Given the description of an element on the screen output the (x, y) to click on. 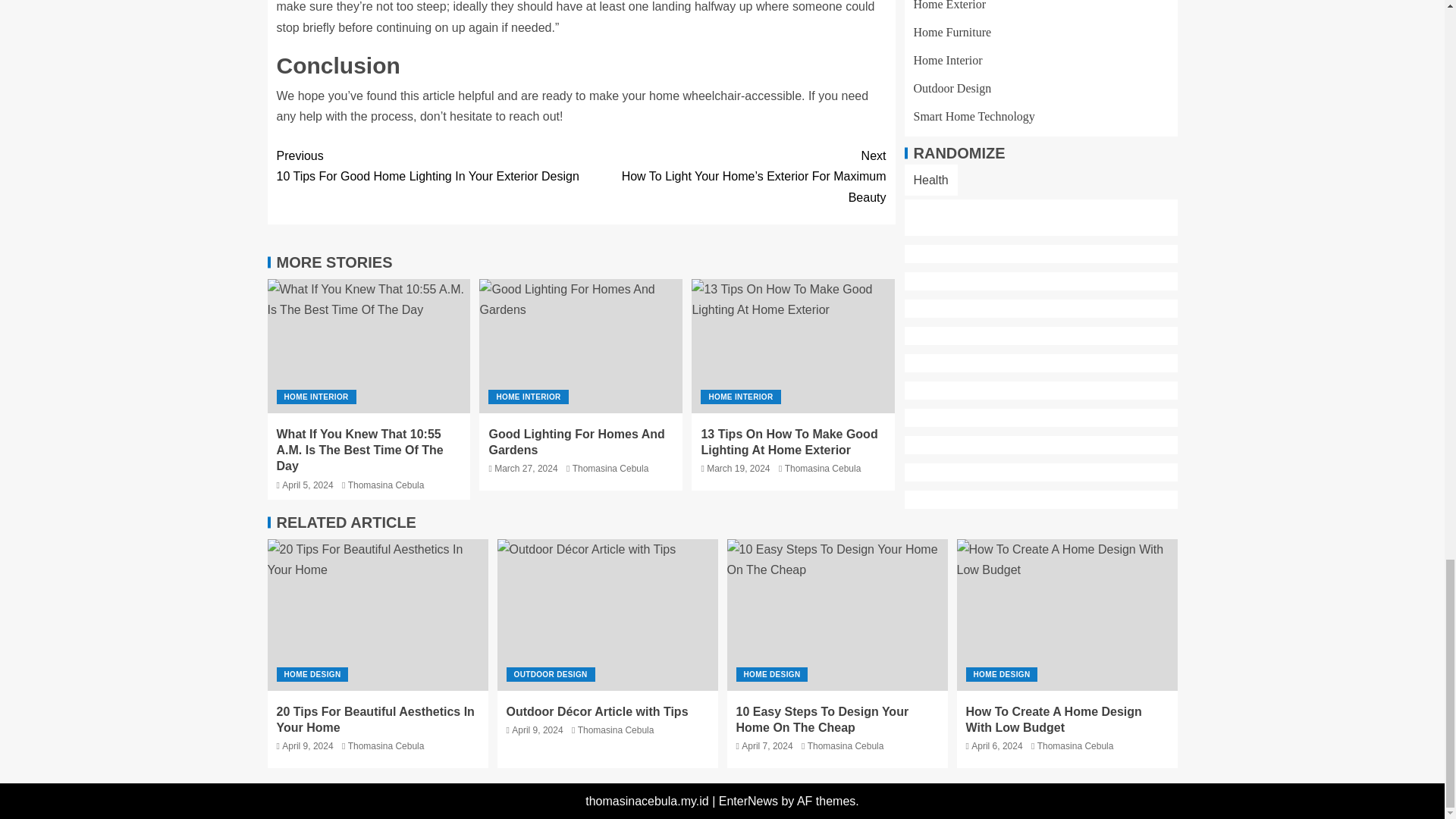
Good Lighting For Homes And Gardens (580, 346)
HOME INTERIOR (315, 396)
What If You Knew That 10:55 A.M. Is The Best Time Of The Day (368, 346)
13 Tips On How To Make Good Lighting At Home Exterior (793, 346)
